Given the description of an element on the screen output the (x, y) to click on. 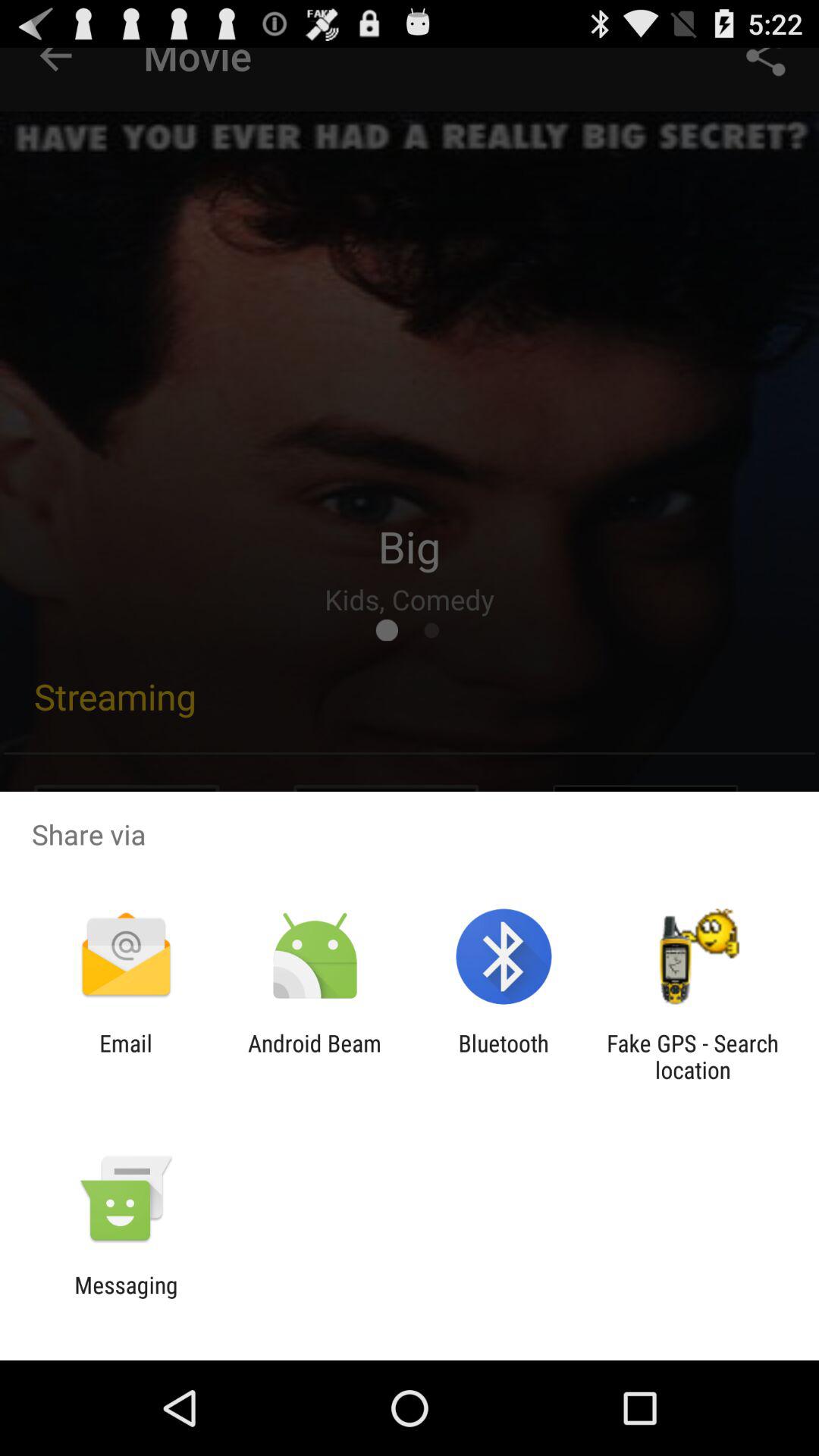
turn on the fake gps search app (692, 1056)
